Given the description of an element on the screen output the (x, y) to click on. 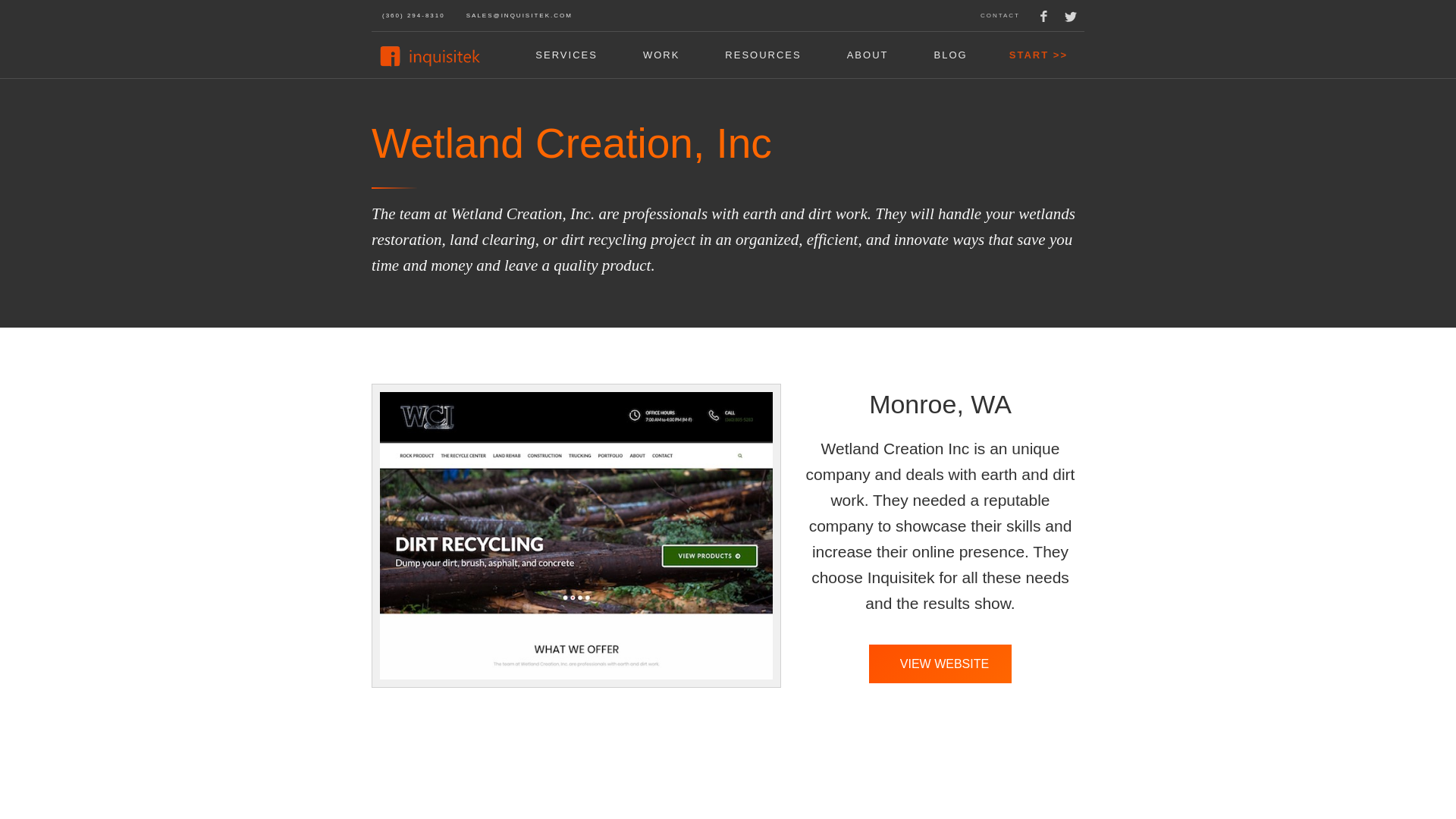
CONTACT (999, 15)
VIEW WEBSITE (940, 663)
RESOURCES (762, 54)
ABOUT (867, 54)
SERVICES (566, 54)
BLOG (950, 54)
WORK (660, 54)
